Given the description of an element on the screen output the (x, y) to click on. 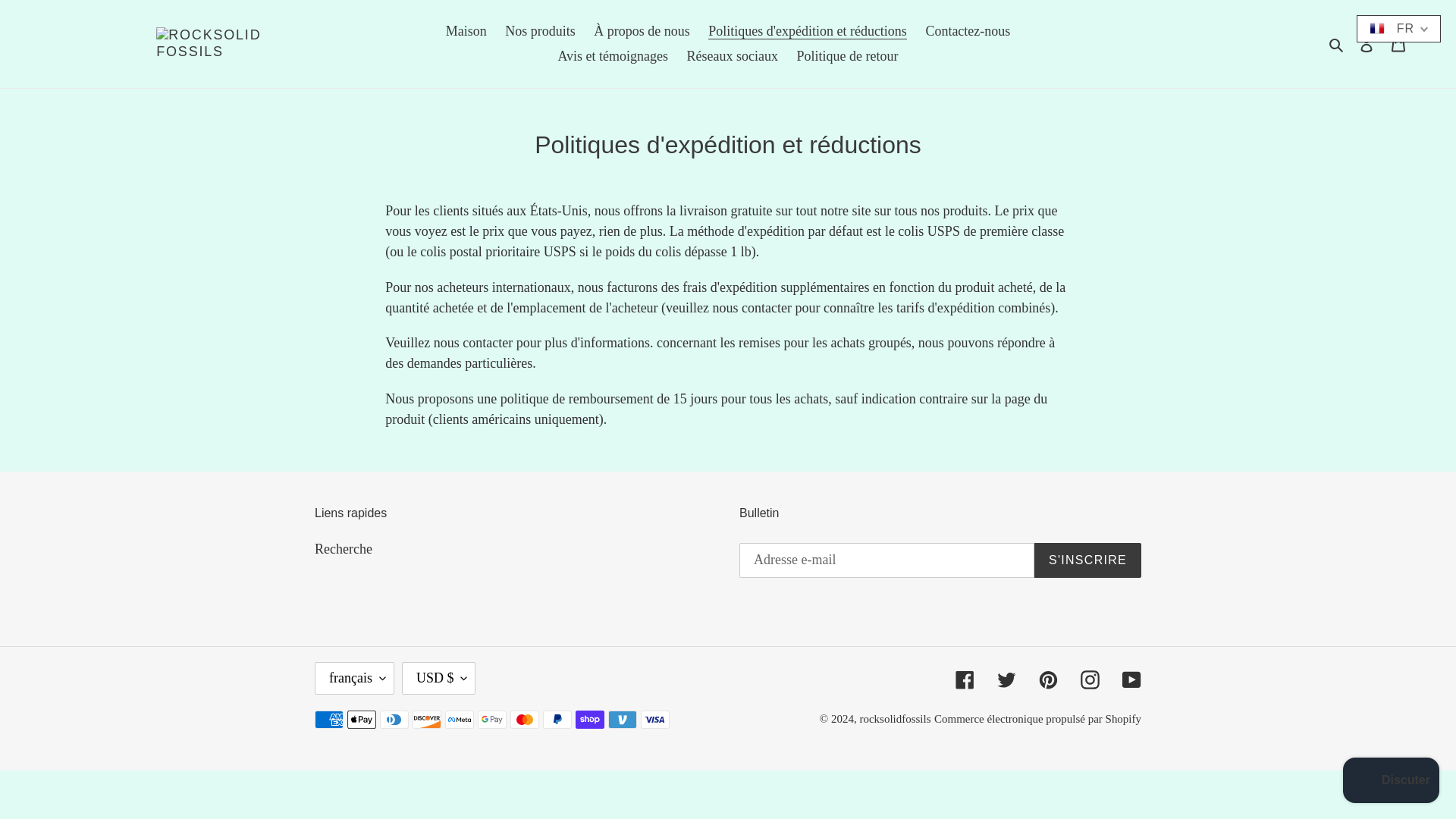
Maison (466, 31)
Nos produits (540, 31)
Recherche (343, 548)
S'INSCRIRE (1087, 560)
Se connecter (1366, 43)
Contactez-nous (967, 31)
Rechercher (1337, 44)
Politique de retour (847, 56)
Panier (1397, 43)
